Given the description of an element on the screen output the (x, y) to click on. 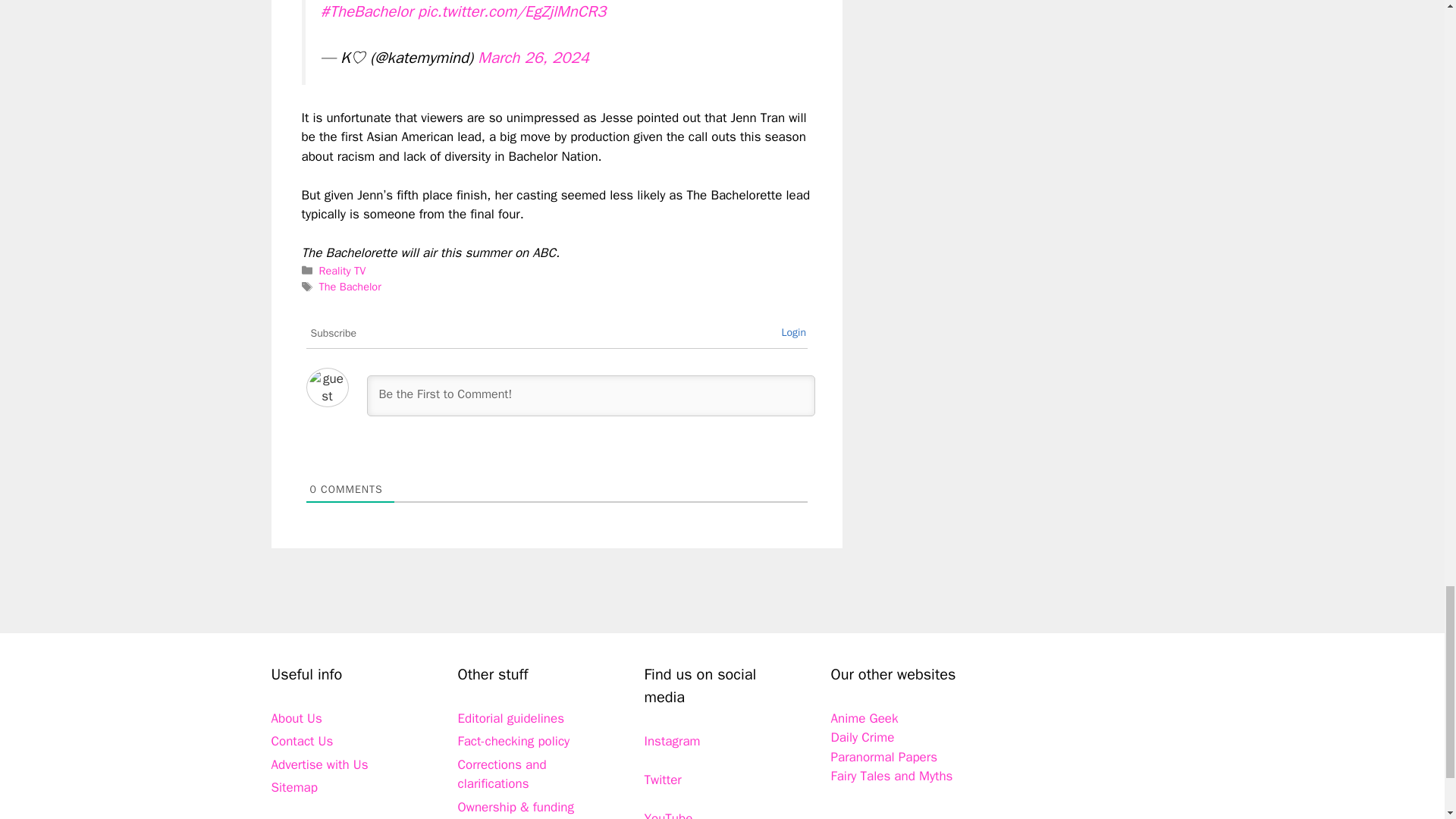
Editorial guidelines (511, 718)
Advertise with Us (319, 764)
Fact-checking policy (514, 741)
Corrections and clarifications (502, 774)
Reality TV (342, 270)
About Us (295, 718)
Contact Us (301, 741)
Login (793, 332)
Sitemap (293, 787)
The Bachelor (349, 286)
